Given the description of an element on the screen output the (x, y) to click on. 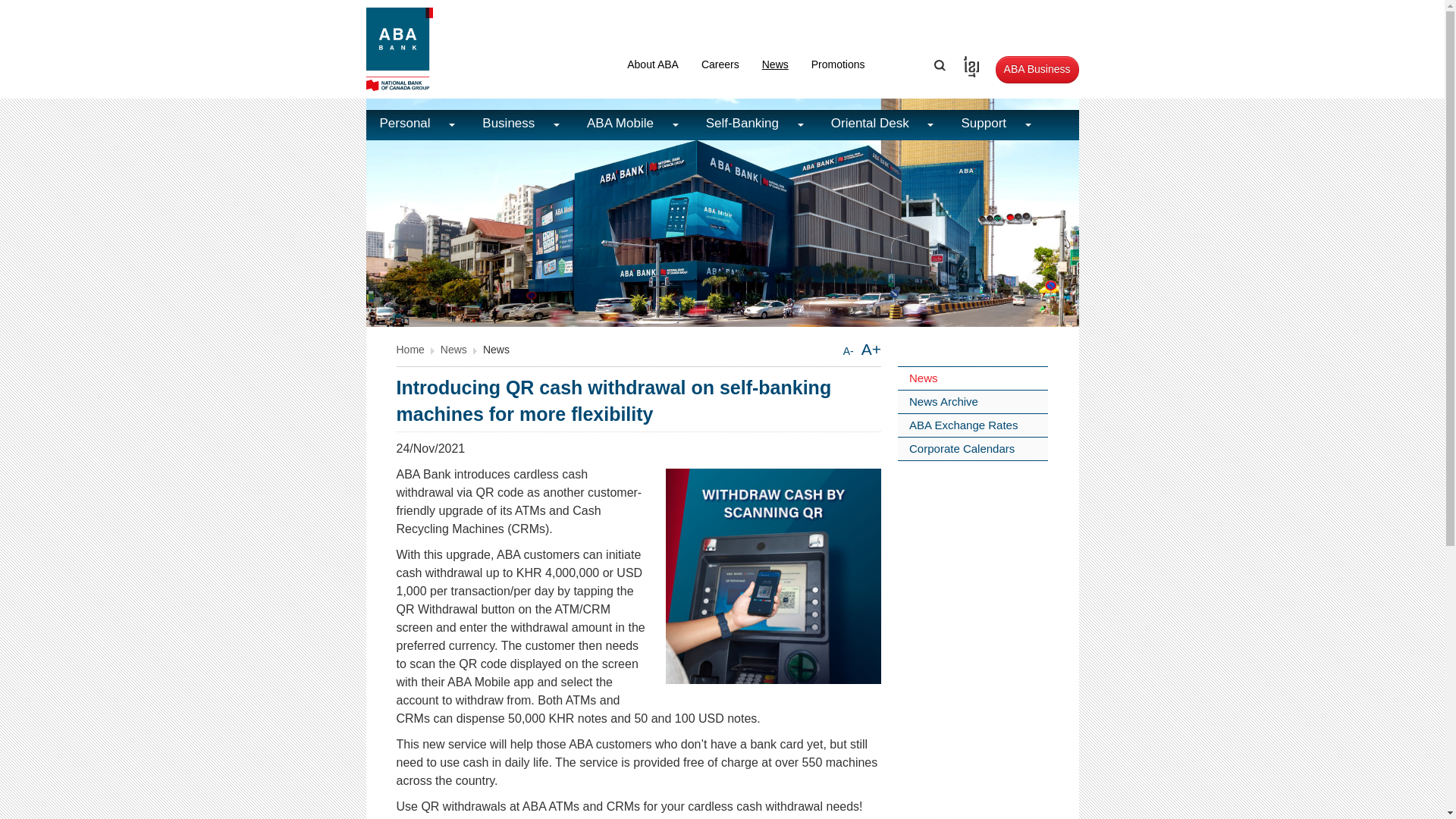
About ABA (652, 64)
Careers (720, 64)
Personal  (416, 124)
Search (939, 64)
About ABA (652, 64)
Promotions (837, 64)
Home (409, 349)
News (775, 64)
Search (939, 64)
Promotions (837, 64)
